Given the description of an element on the screen output the (x, y) to click on. 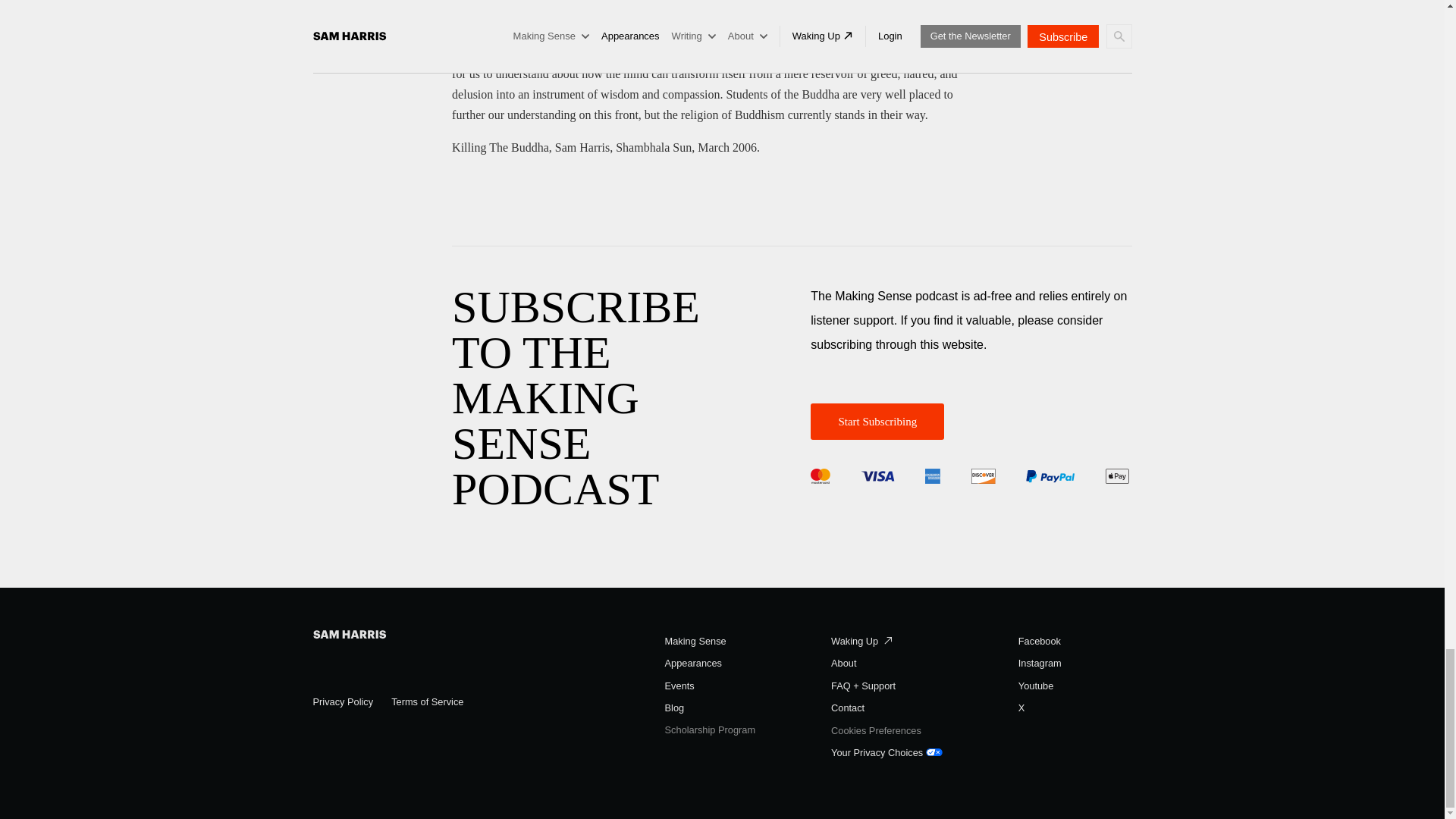
Terms of Service (427, 702)
Youtube (1035, 686)
Blog (674, 707)
Scholarship Program (710, 730)
Making Sense (695, 641)
Facebook (1039, 641)
Appearances (693, 663)
Waking Up (861, 641)
Start Subscribing (876, 421)
About (843, 663)
Cookies Preferences (876, 730)
Privacy Policy (342, 702)
Contact (847, 707)
Events (679, 686)
Instagram (1039, 663)
